Given the description of an element on the screen output the (x, y) to click on. 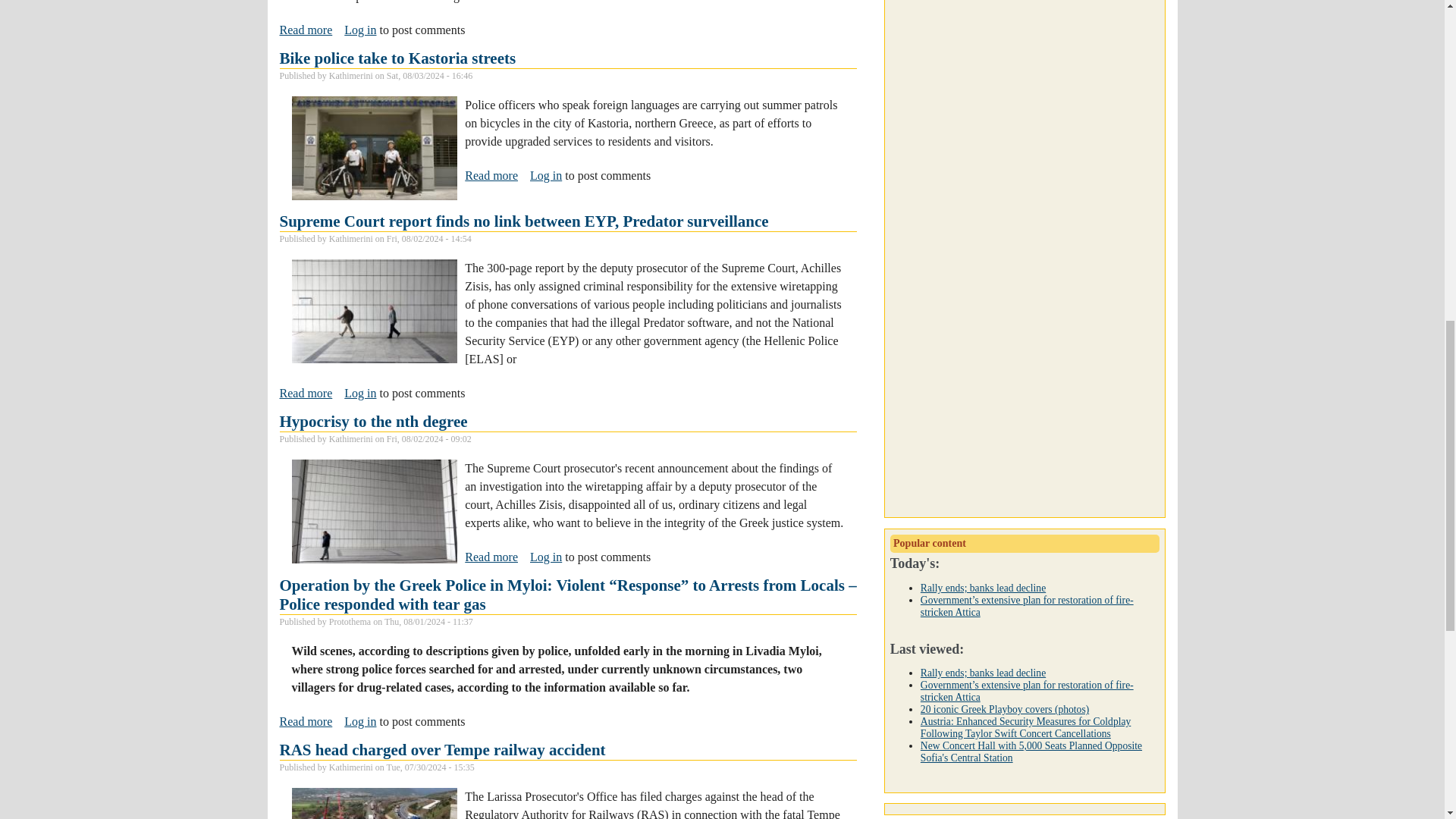
Log in (491, 174)
Log in (359, 392)
Bike police take to Kastoria streets (545, 174)
Log in (397, 57)
Hypocrisy to the nth degree (359, 29)
